Given the description of an element on the screen output the (x, y) to click on. 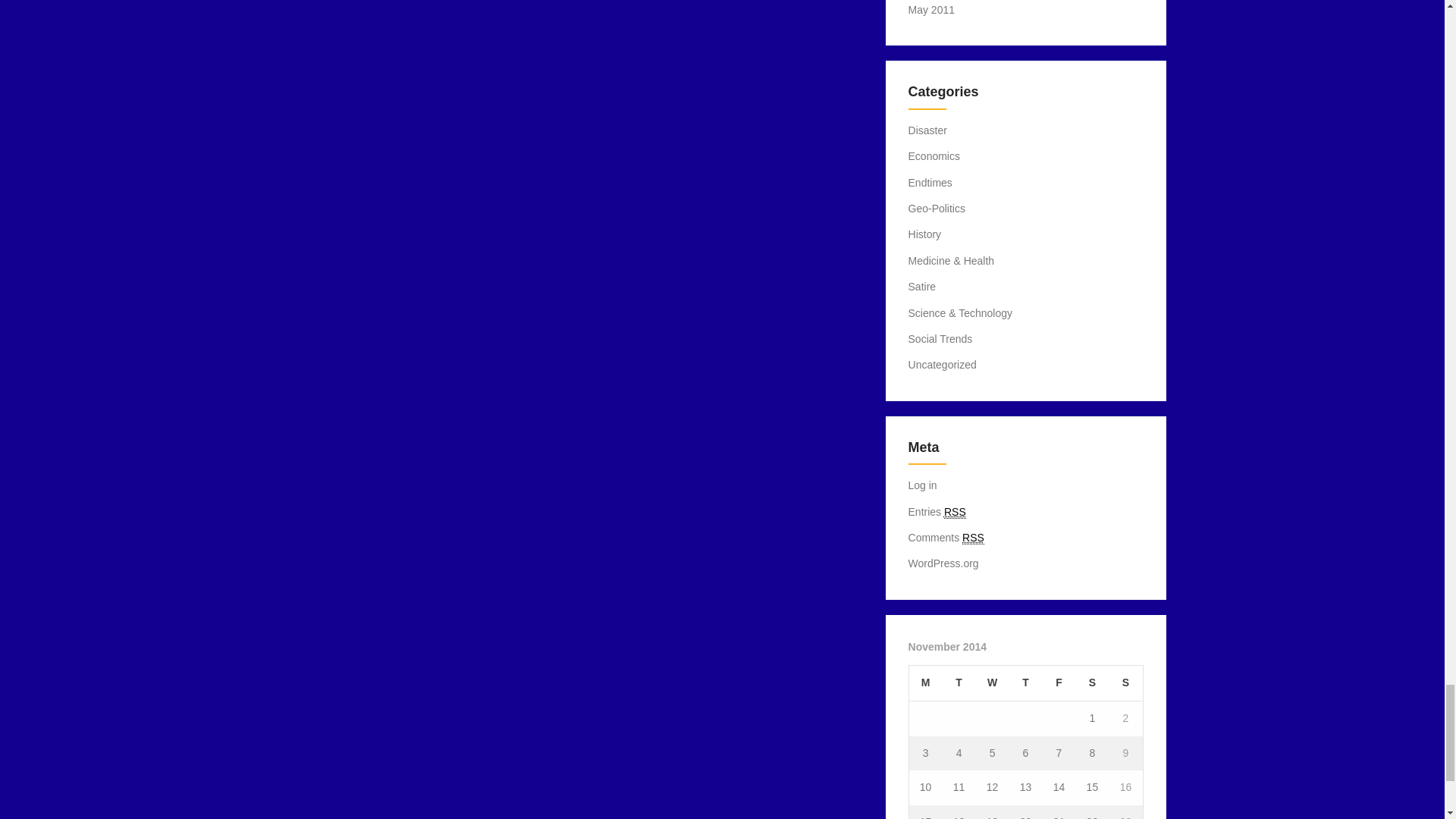
Really Simple Syndication (954, 512)
Saturday (1091, 683)
Friday (1058, 683)
Thursday (1025, 683)
Sunday (1125, 683)
Wednesday (992, 683)
Tuesday (958, 683)
Really Simple Syndication (973, 537)
Monday (925, 683)
